Given the description of an element on the screen output the (x, y) to click on. 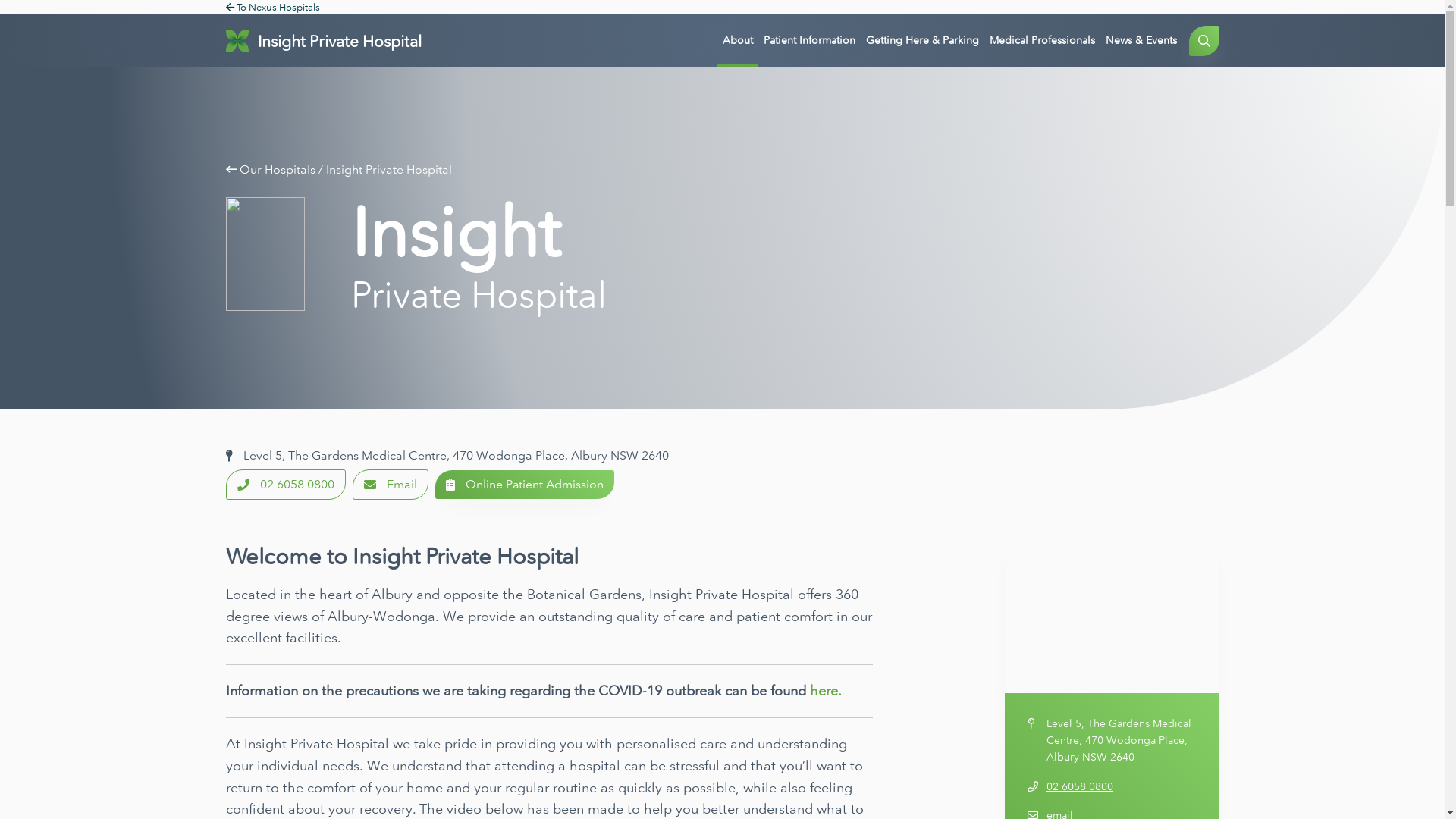
Online Patient Admission Element type: text (524, 484)
About Element type: text (737, 40)
Getting Here & Parking Element type: text (921, 40)
Insight Private Hospital Element type: text (388, 169)
02 6058 0800 Element type: text (1121, 786)
here. Element type: text (825, 690)
Medical Professionals Element type: text (1042, 40)
02 6058 0800 Element type: text (285, 484)
Insight Private Hospital Element type: text (323, 41)
News & Events Element type: text (1140, 40)
Patient Information Element type: text (809, 40)
Email Element type: text (389, 484)
To Nexus Hospitals Element type: text (272, 6)
Our Hospitals Element type: text (277, 169)
